Given the description of an element on the screen output the (x, y) to click on. 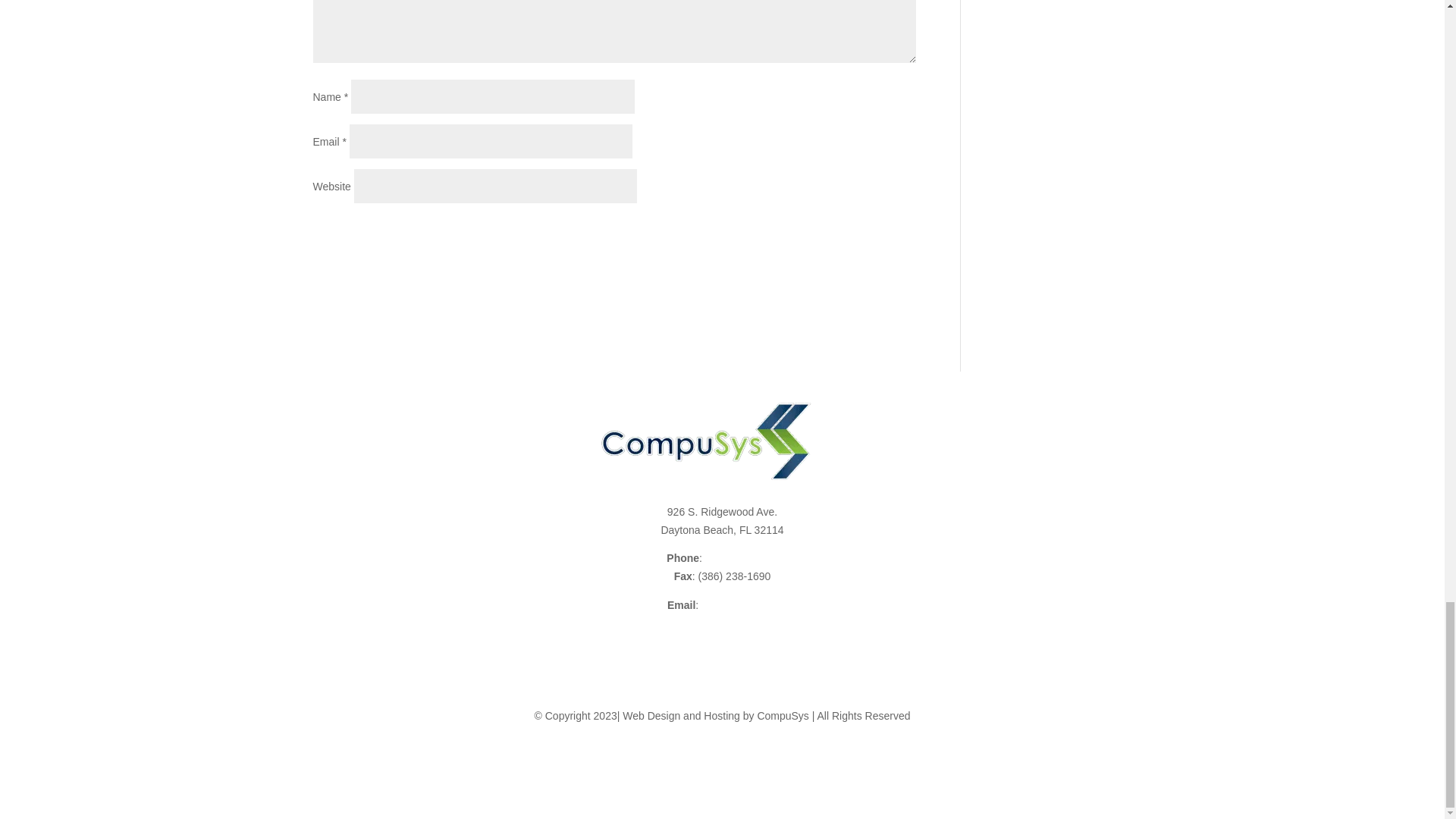
Submit Comment (840, 232)
Follow on X (706, 770)
Follow on Facebook (675, 770)
Follow on LinkedIn (766, 770)
rightcolorslogo (705, 441)
Follow on Instagram (737, 770)
